Given the description of an element on the screen output the (x, y) to click on. 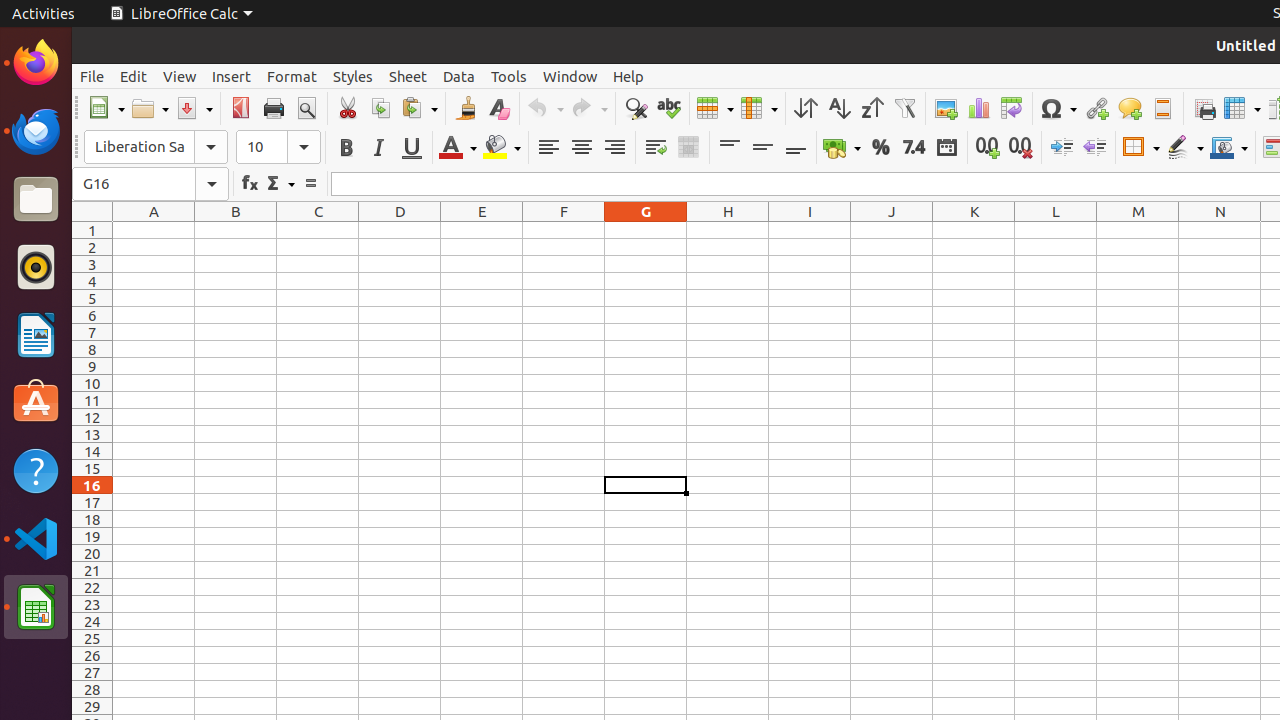
Freeze Rows and Columns Element type: push-button (1242, 108)
PDF Element type: push-button (240, 108)
Add Decimal Place Element type: push-button (987, 147)
Save Element type: push-button (194, 108)
View Element type: menu (179, 76)
